Given the description of an element on the screen output the (x, y) to click on. 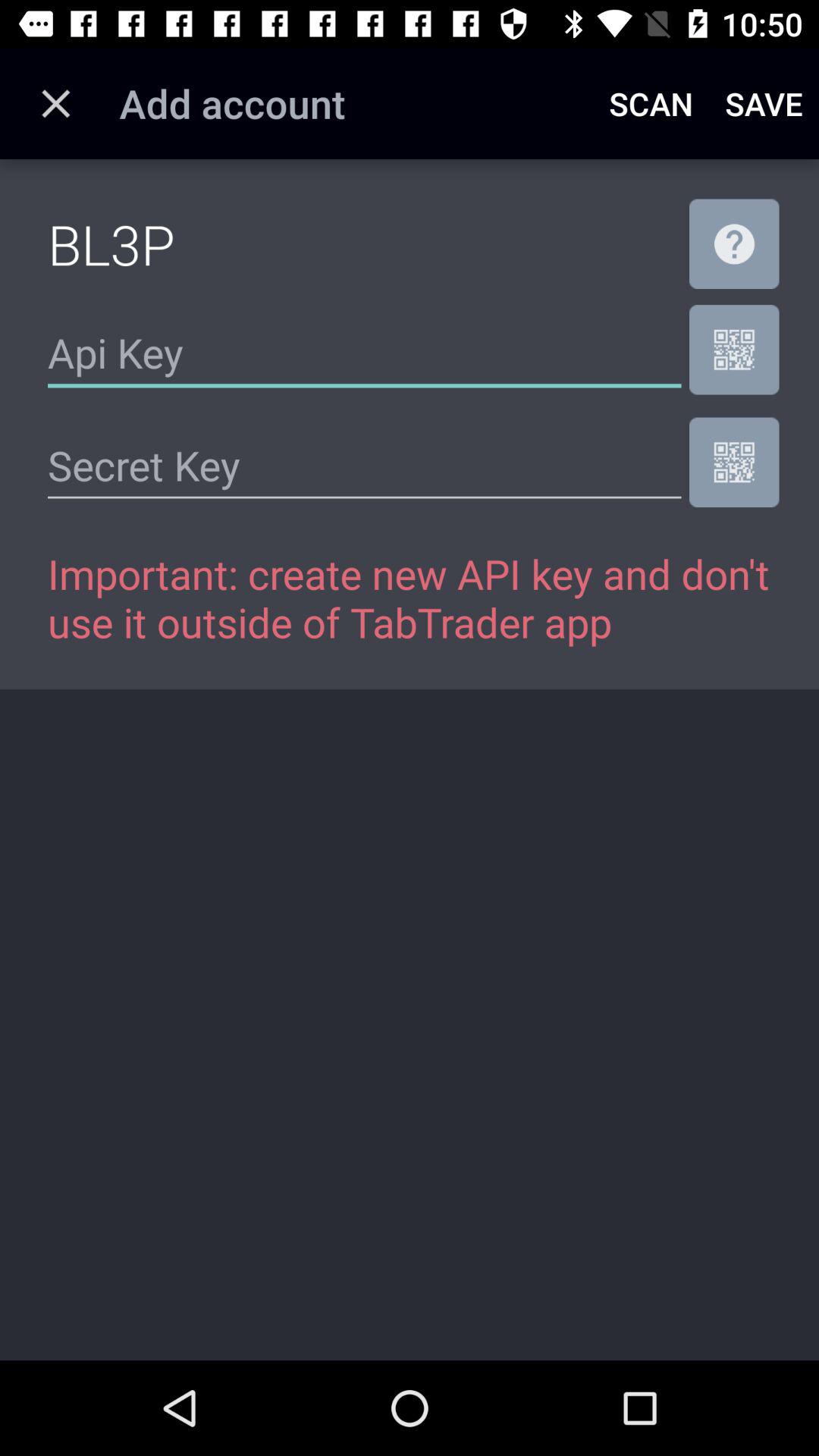
select the icon above the important create new item (734, 462)
